Given the description of an element on the screen output the (x, y) to click on. 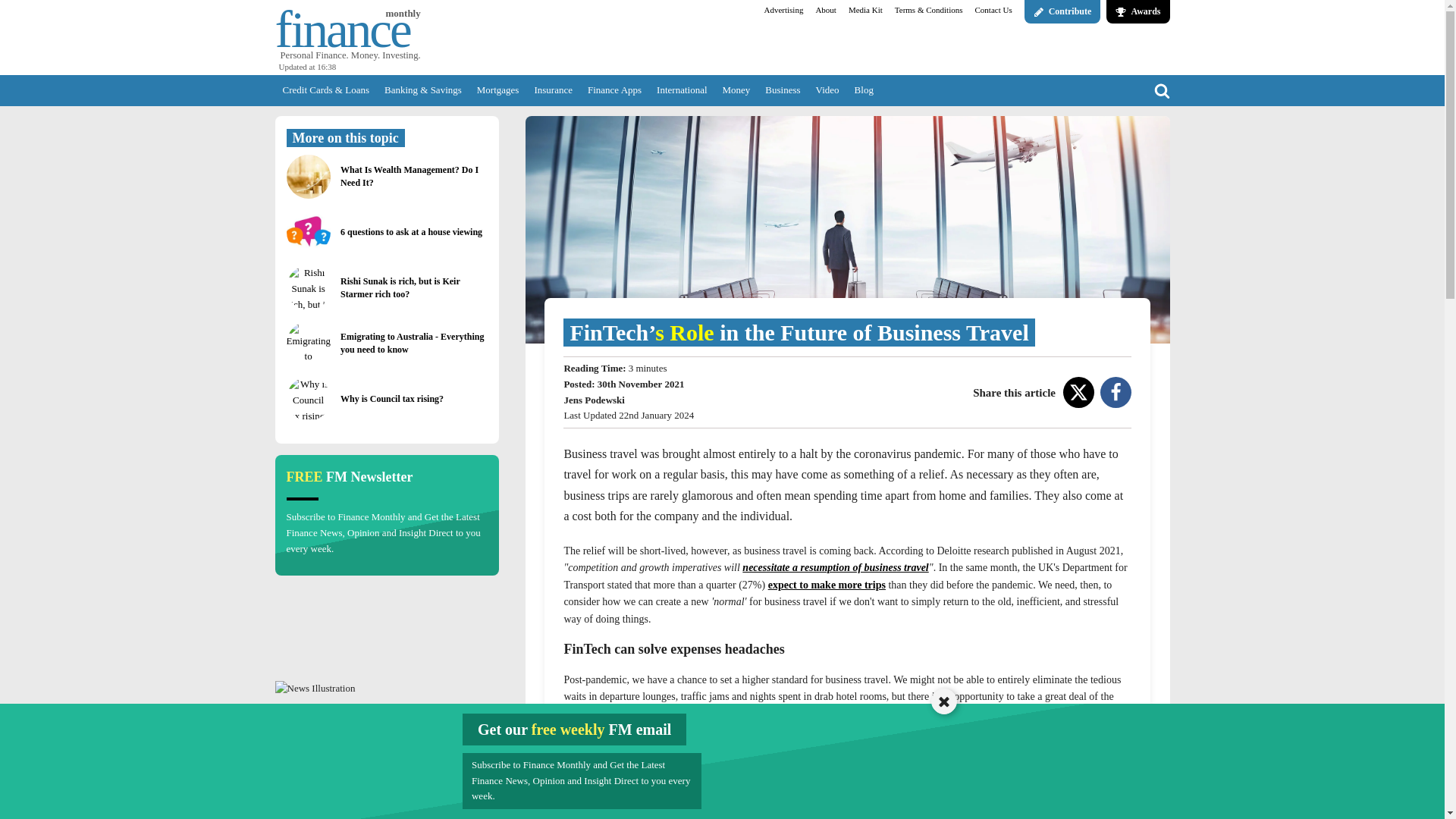
Video (827, 90)
Money (736, 90)
About (826, 10)
What Is Wealth Management? Do I Need It? (413, 176)
Contact Us (993, 10)
Business (782, 90)
Advertising (783, 10)
Contribute (1062, 11)
Finance Apps (614, 90)
Insurance (552, 90)
necessitate a resumption of business travel (835, 567)
expect to make more trips (826, 584)
International (681, 90)
Media Kit (865, 10)
Blog (863, 90)
